Given the description of an element on the screen output the (x, y) to click on. 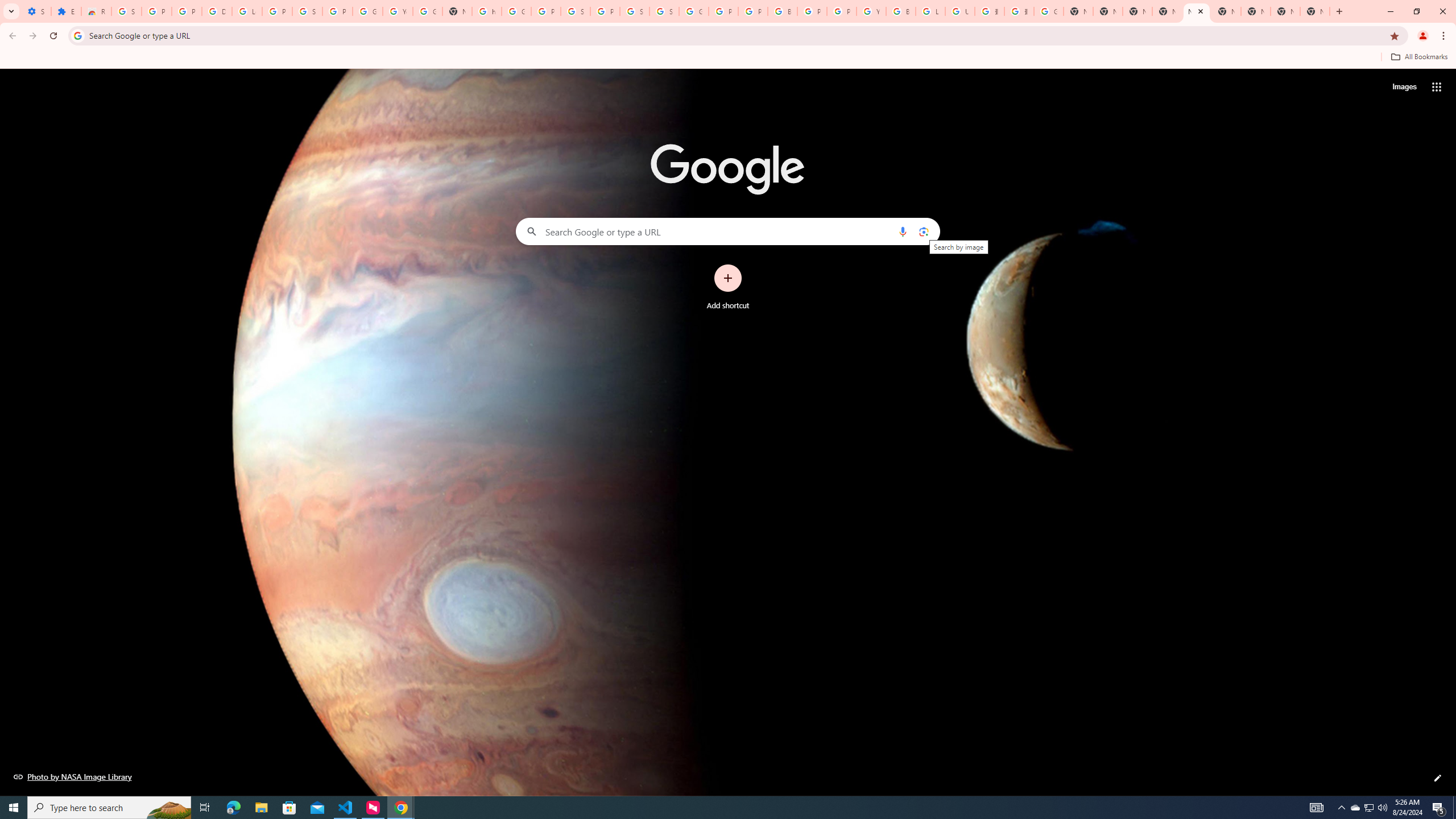
Privacy Help Center - Policies Help (753, 11)
Settings - On startup (36, 11)
New Tab (1314, 11)
https://scholar.google.com/ (486, 11)
